Given the description of an element on the screen output the (x, y) to click on. 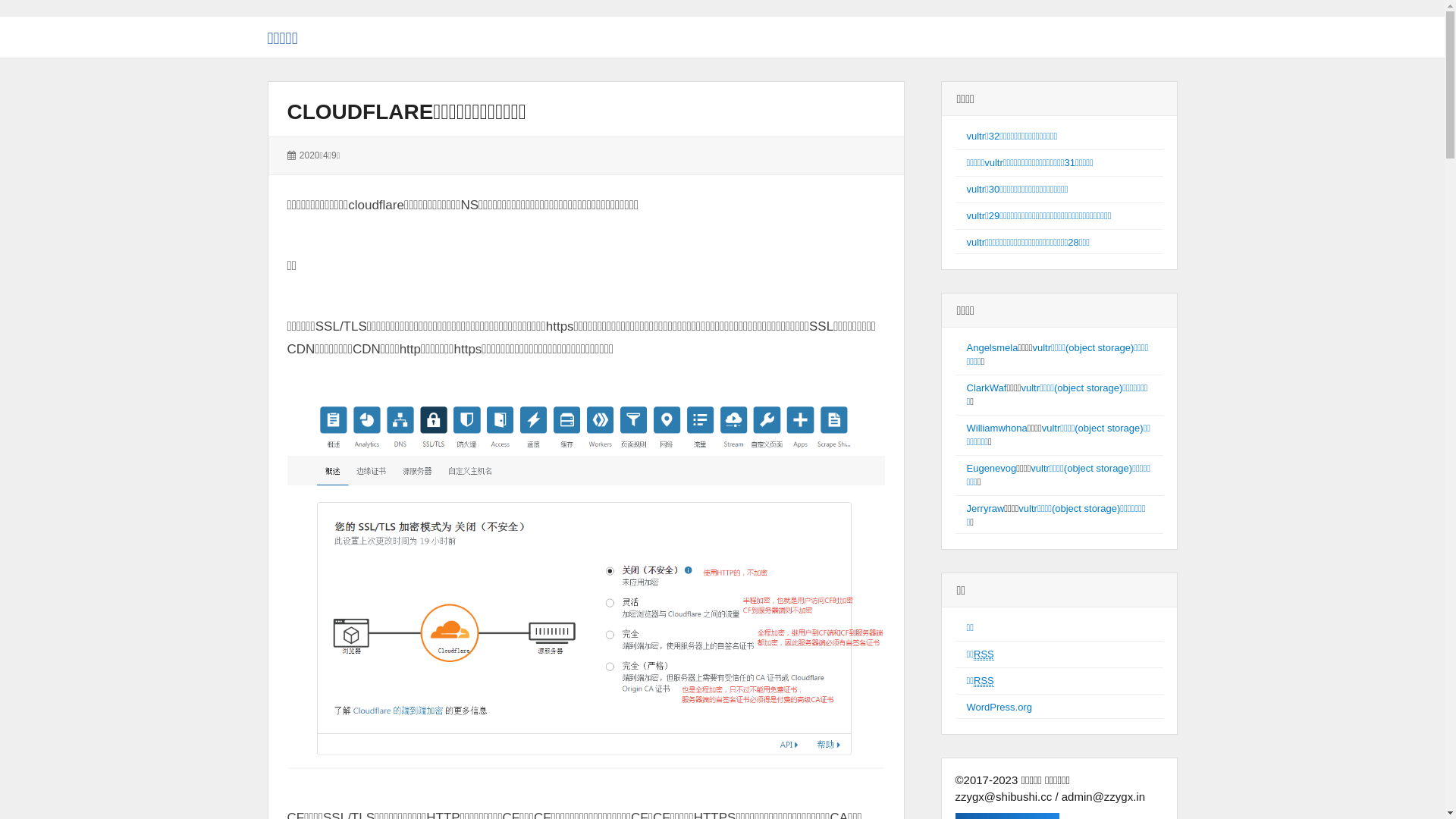
ClarkWaf Element type: text (986, 387)
Eugenevog Element type: text (991, 467)
Jerryraw Element type: text (985, 508)
Williamwhona Element type: text (996, 427)
Angelsmela Element type: text (991, 347)
WordPress.org Element type: text (998, 706)
